Given the description of an element on the screen output the (x, y) to click on. 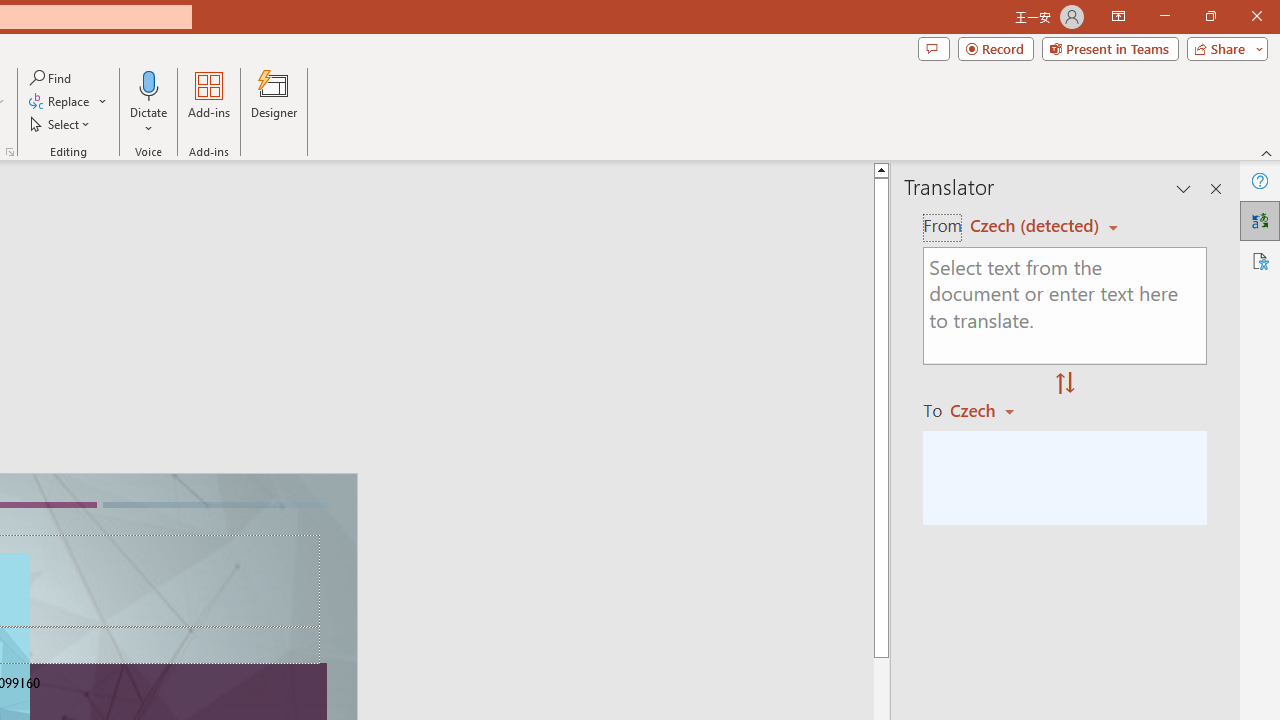
Czech (991, 409)
